Given the description of an element on the screen output the (x, y) to click on. 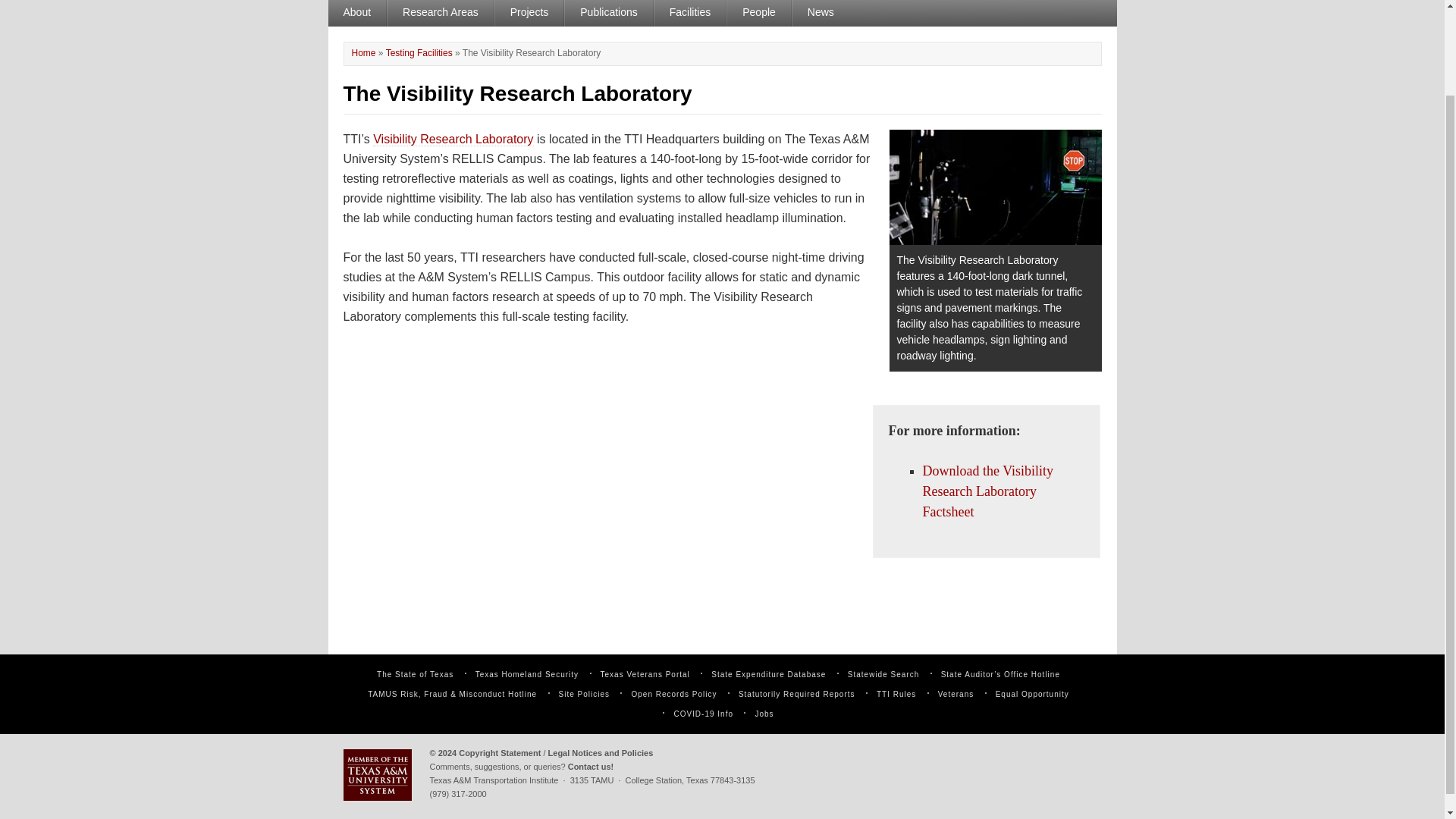
Texas Veterans Portal (644, 674)
TTI Rules (895, 694)
Testing Facilities (418, 52)
The Visibility Research Laboratory (532, 495)
News (820, 13)
Projects (529, 13)
State Expenditure Database (768, 674)
Facilities (689, 13)
The State of Texas (414, 674)
Statutorily Required Reports (797, 694)
